Given the description of an element on the screen output the (x, y) to click on. 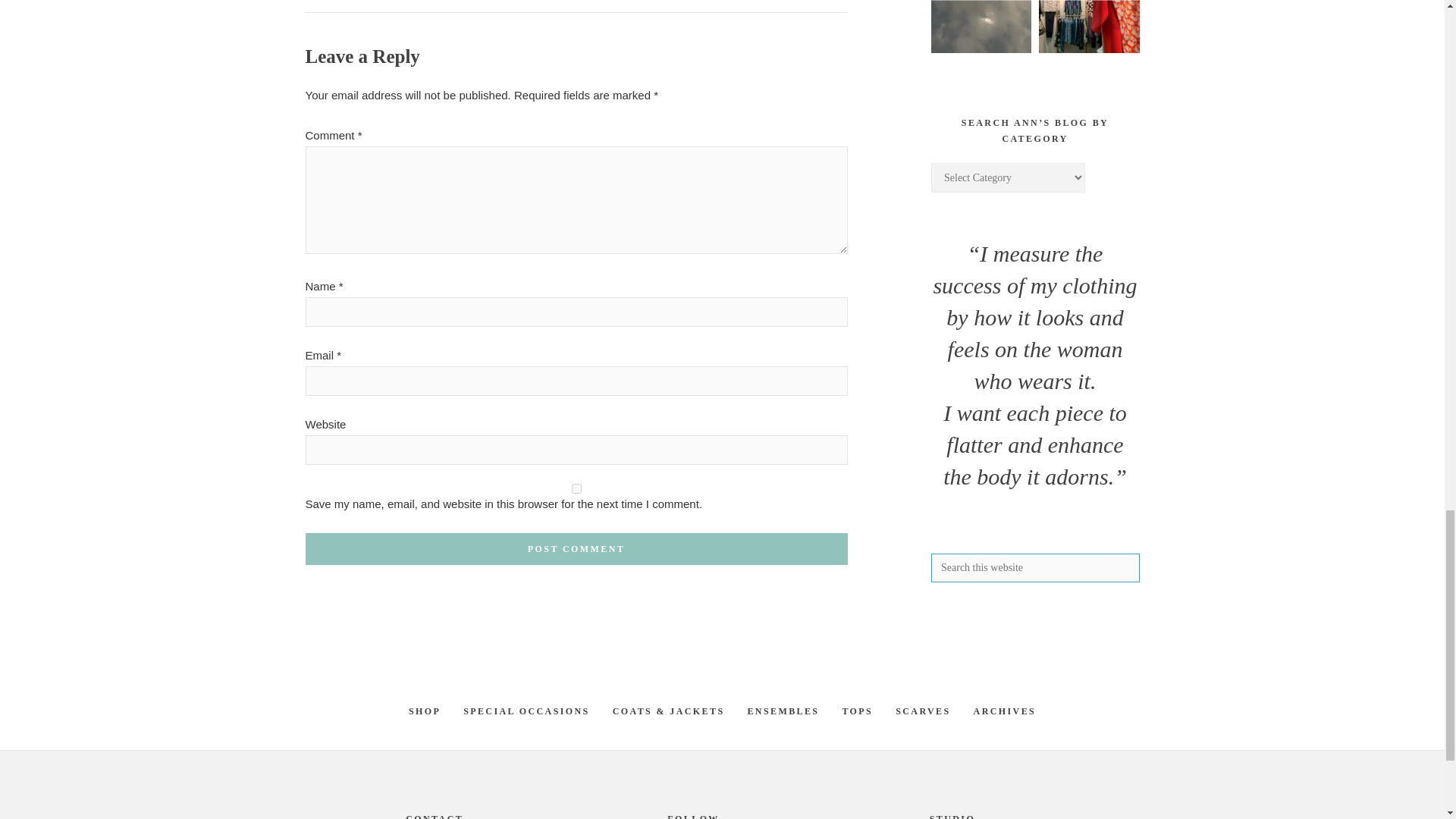
yes (575, 488)
Post Comment (575, 549)
